Given the description of an element on the screen output the (x, y) to click on. 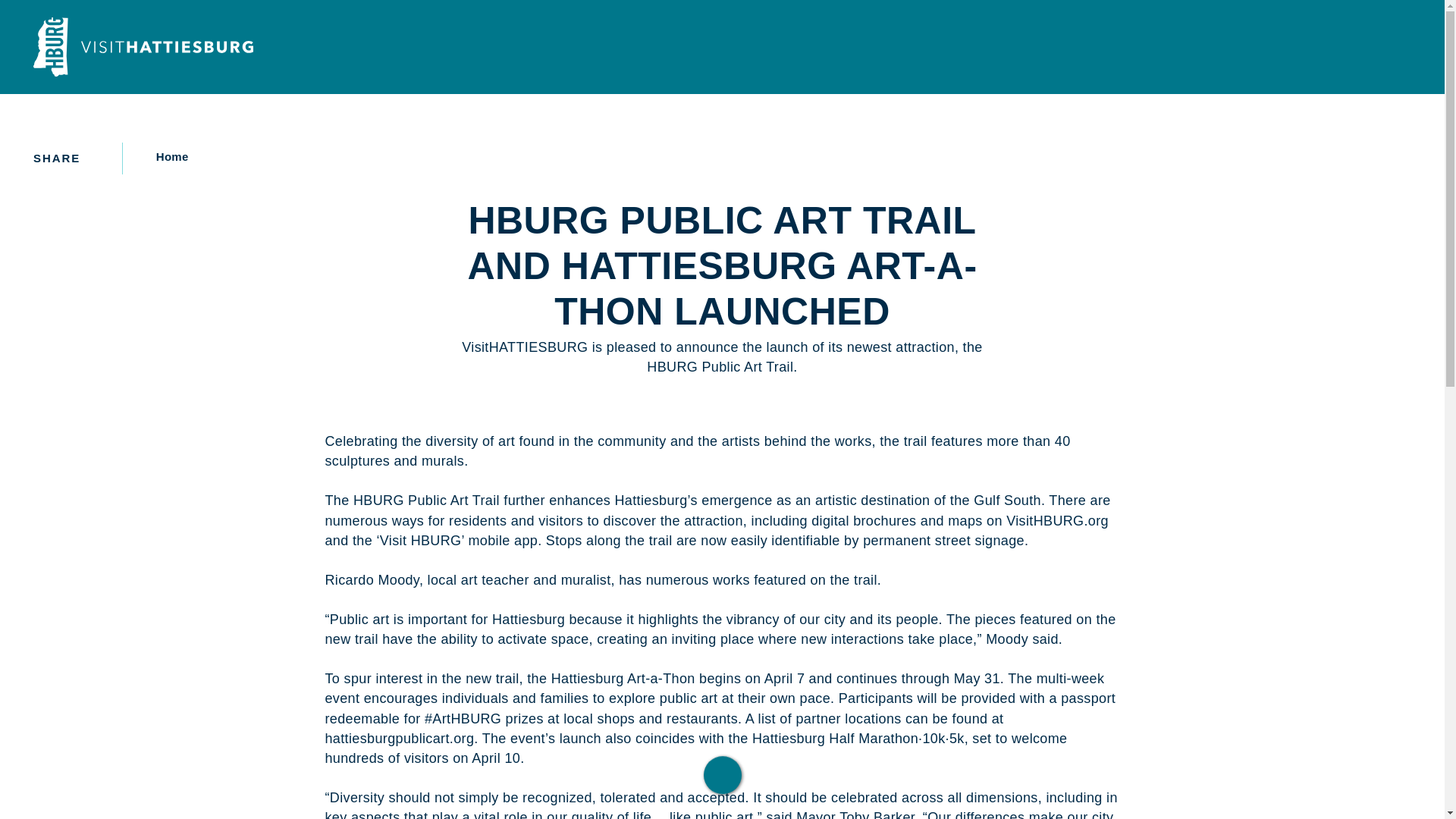
SHARE (68, 158)
Home (167, 156)
Skip to content (17, 15)
